Given the description of an element on the screen output the (x, y) to click on. 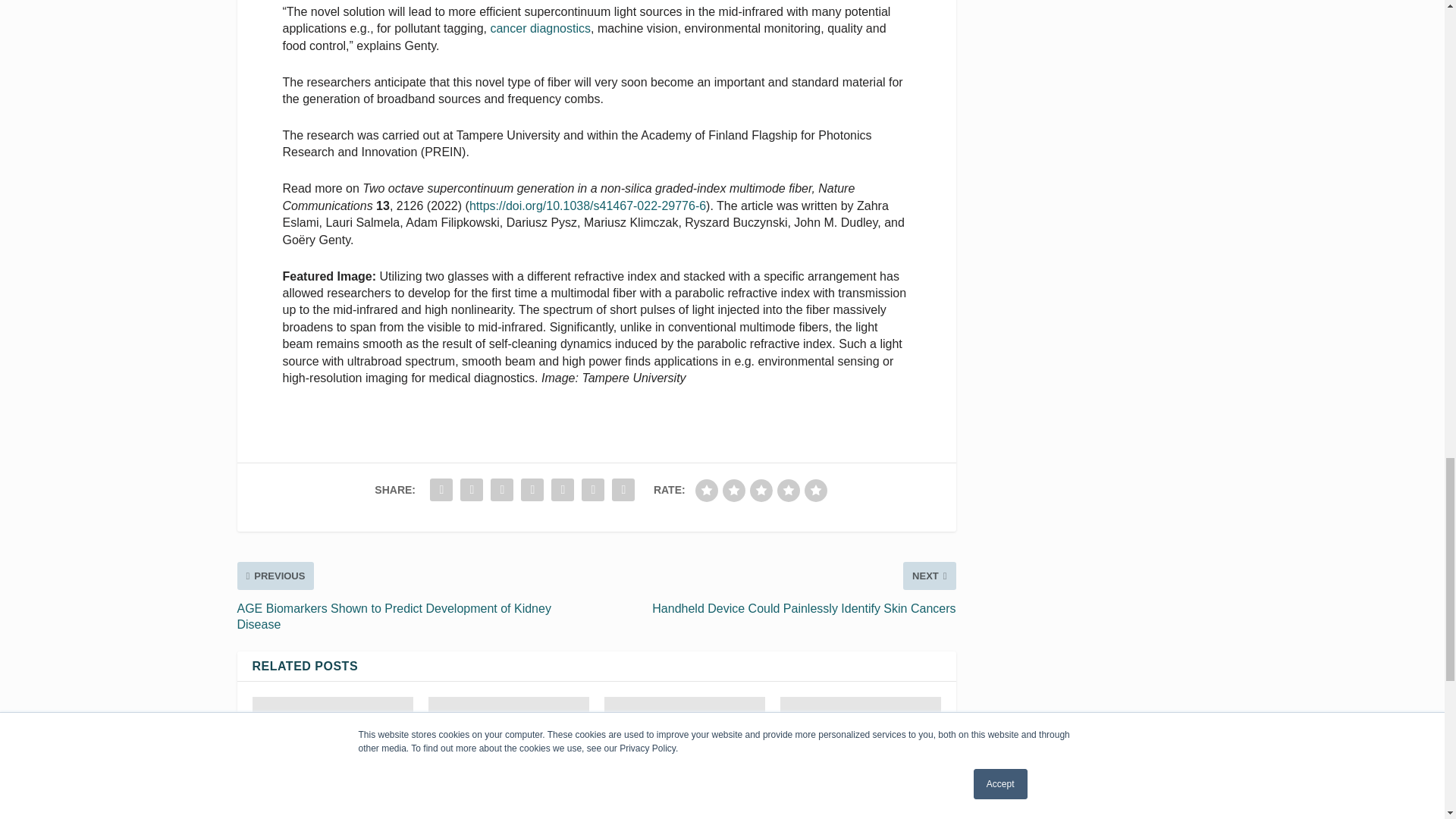
regular (761, 490)
gorgeous (816, 490)
BioImagene Launches Crescendo Digital Pathology Workstation (331, 744)
good (788, 490)
bad (706, 490)
poor (733, 490)
Digital Pathology versus Radiology (508, 744)
